Given the description of an element on the screen output the (x, y) to click on. 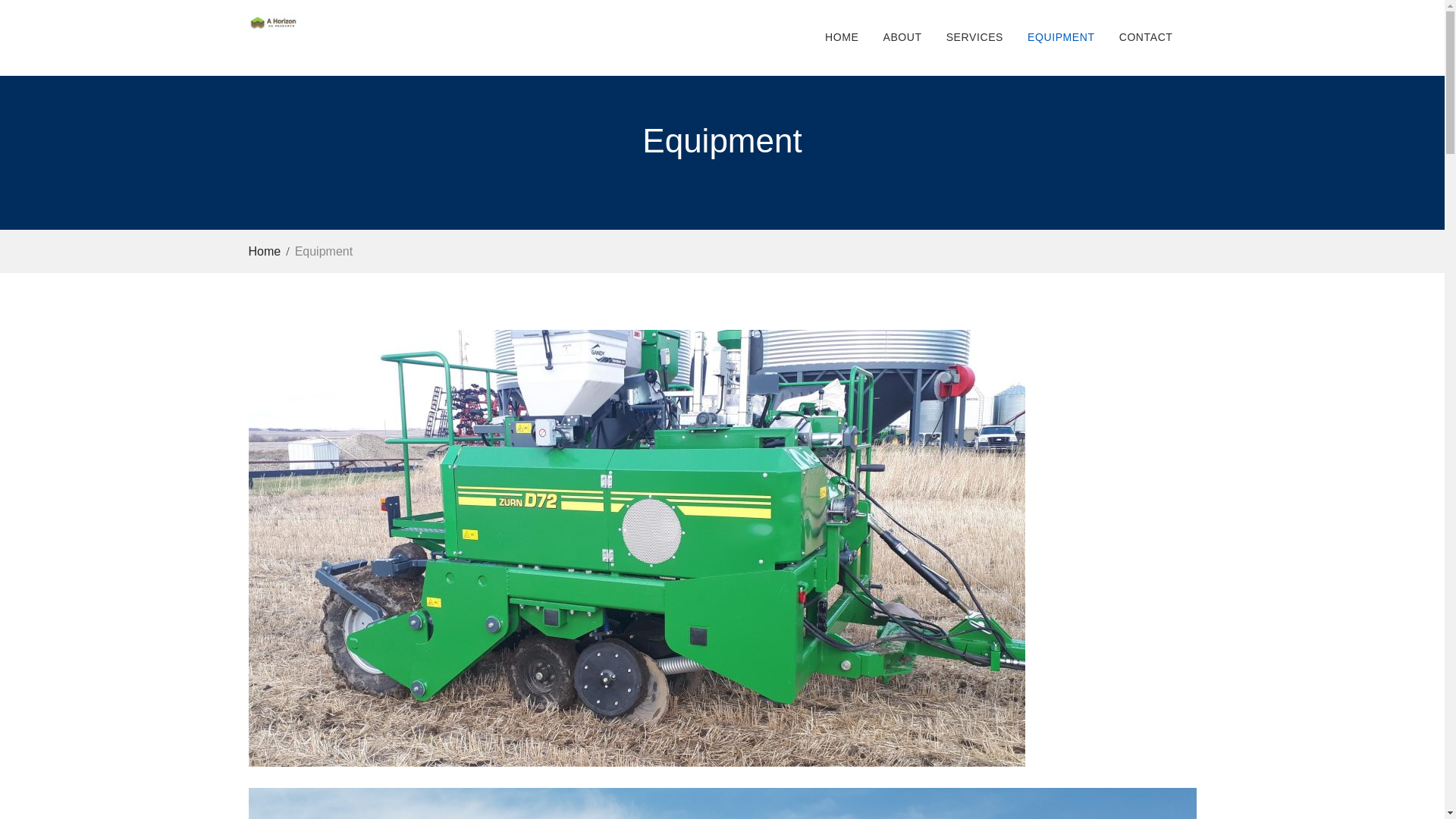
EQUIPMENT (1060, 37)
Home (268, 250)
HOME (841, 37)
ABOUT (901, 37)
CONTACT (1145, 37)
SERVICES (974, 37)
